Given the description of an element on the screen output the (x, y) to click on. 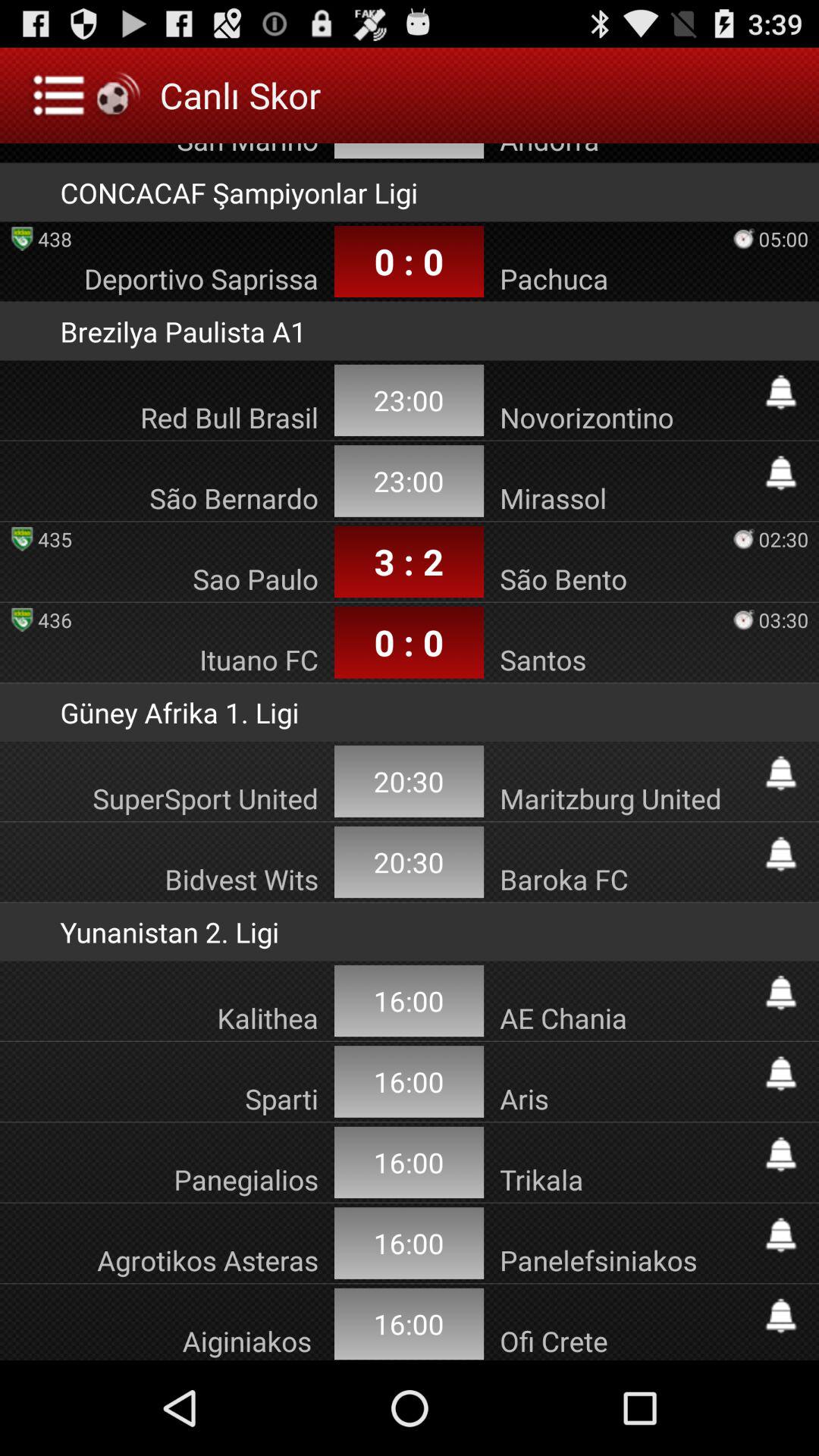
set alert button (780, 473)
